Given the description of an element on the screen output the (x, y) to click on. 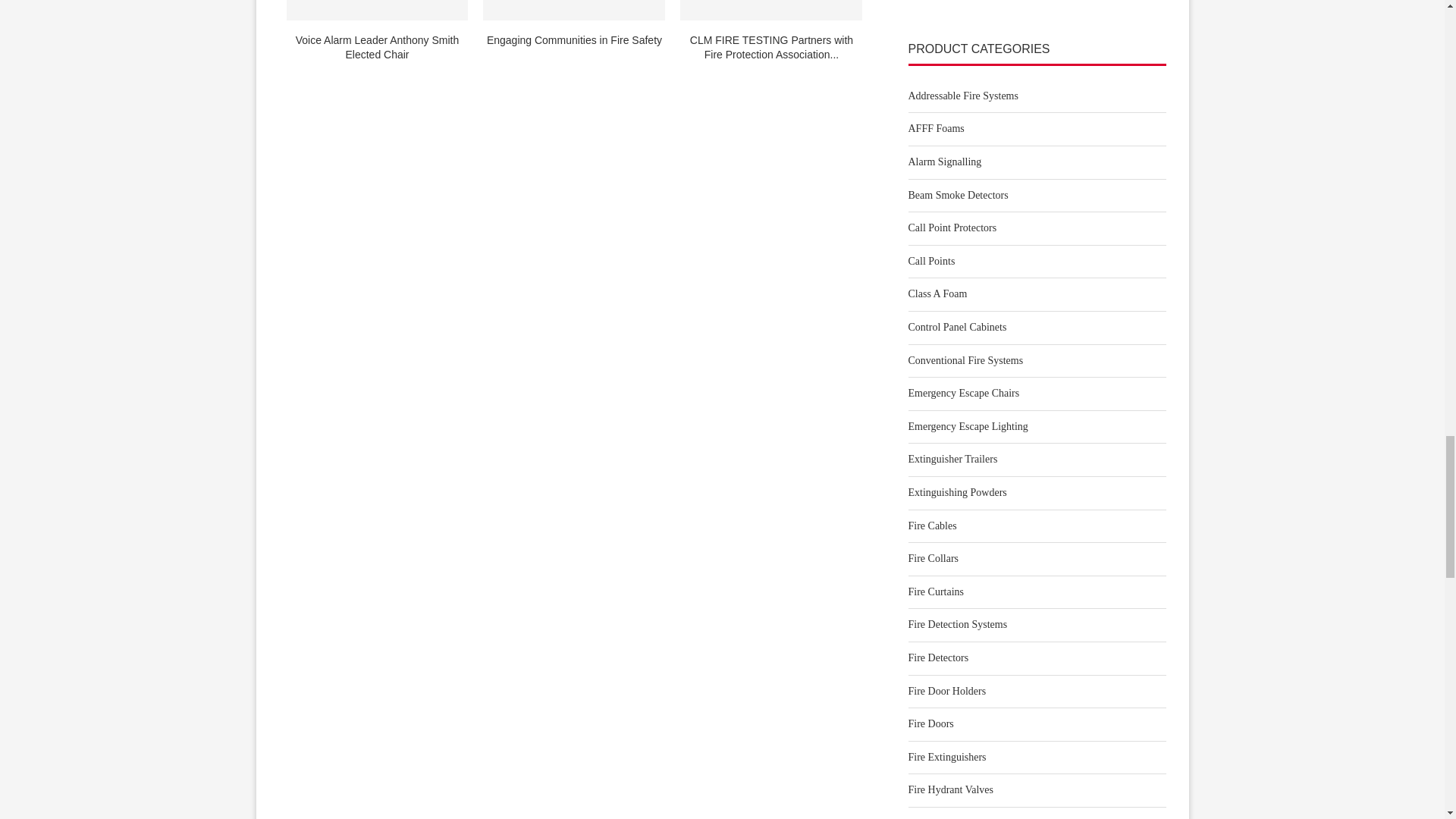
Engaging Communities in Fire Safety (574, 10)
Voice Alarm Leader Anthony Smith Elected Chair (377, 10)
